Given the description of an element on the screen output the (x, y) to click on. 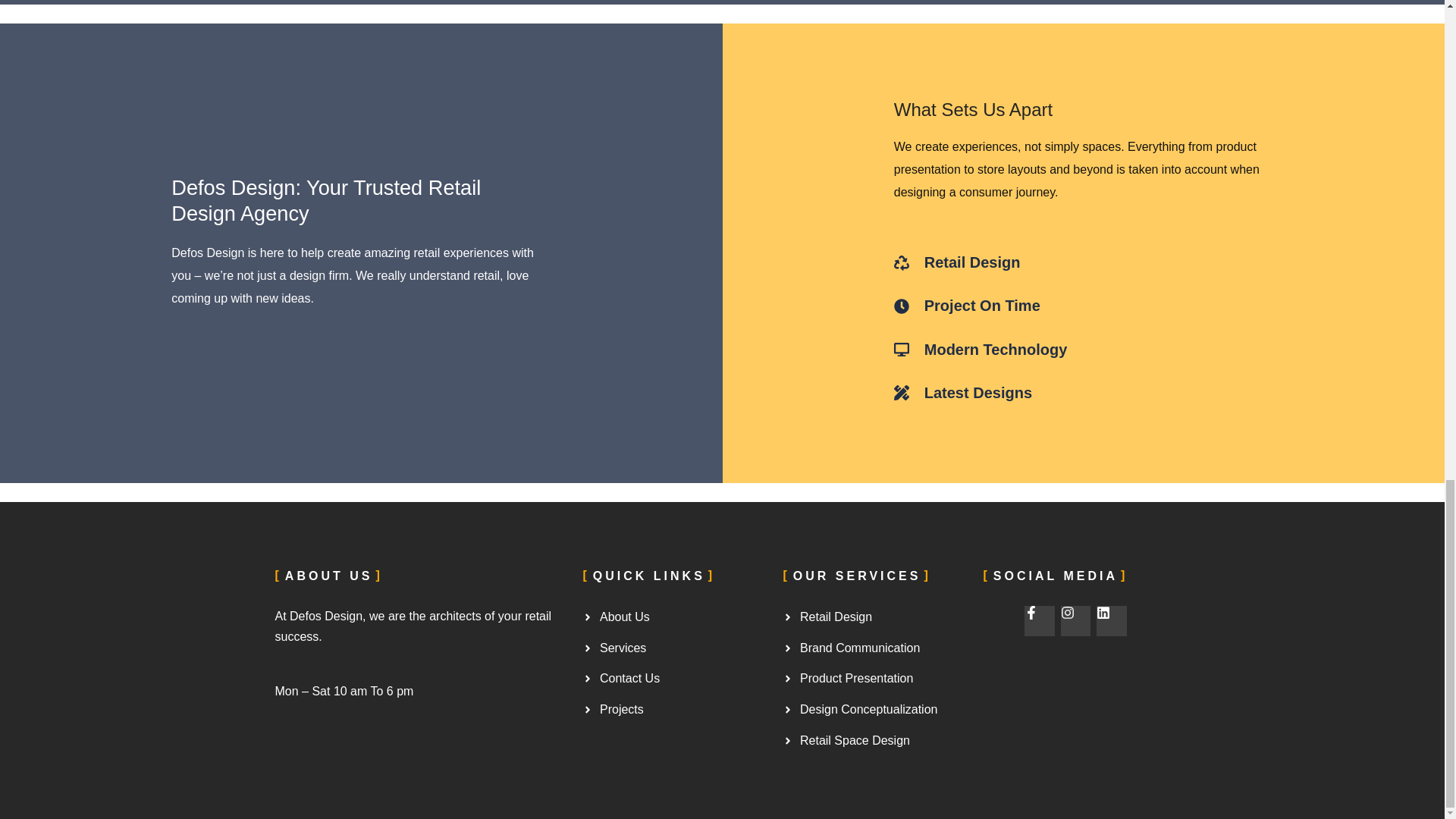
Facebook-f (1039, 621)
Contact Us (674, 678)
Projects (674, 709)
Services (674, 648)
Instagram (1075, 621)
About Us (674, 617)
Linkedin (1111, 621)
